Given the description of an element on the screen output the (x, y) to click on. 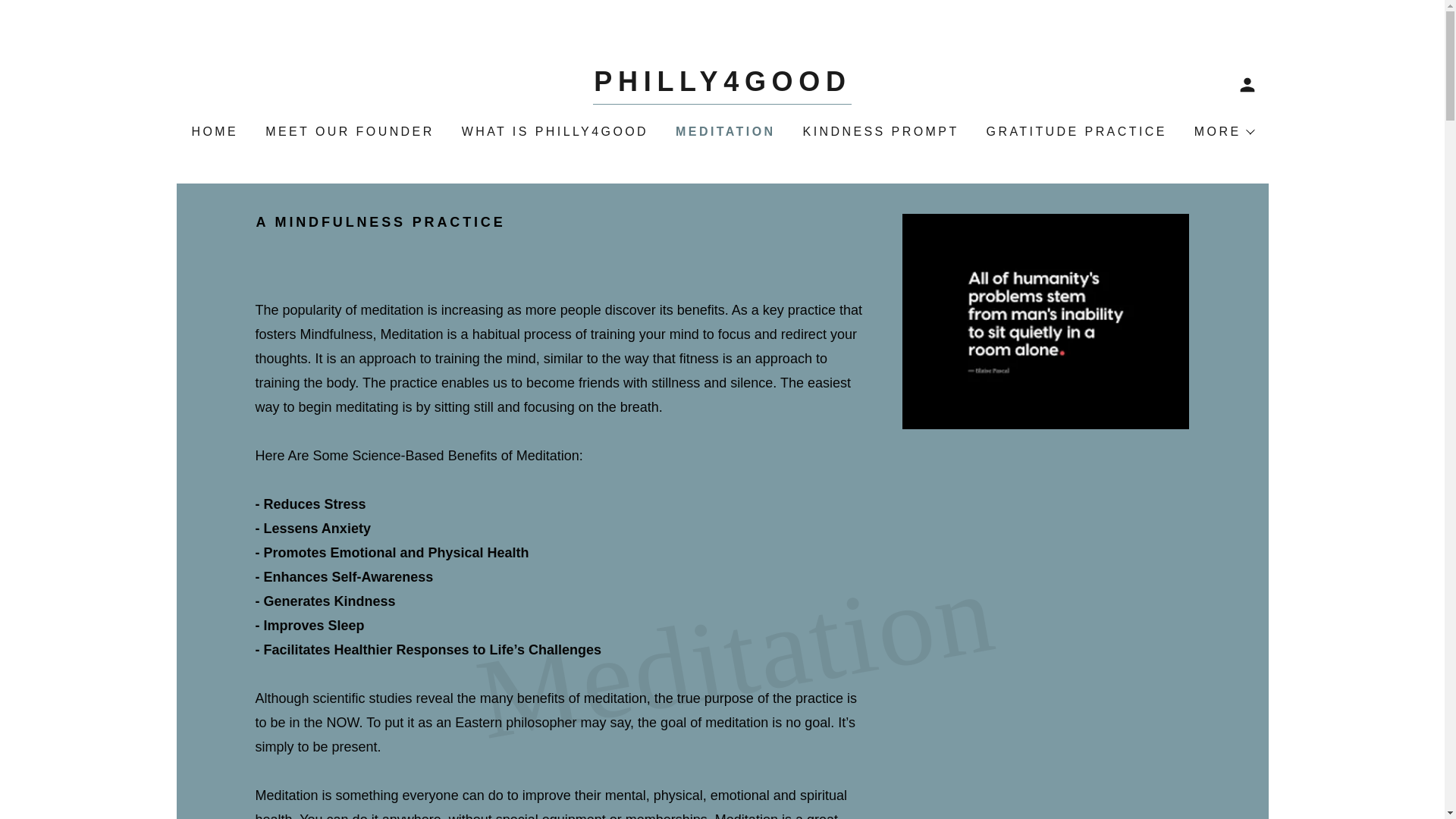
WHAT IS PHILLY4GOOD (553, 131)
HOME (213, 131)
MORE (1223, 131)
GRATITUDE PRACTICE (1075, 131)
Philly4Good  (721, 86)
KINDNESS PROMPT (878, 131)
PHILLY4GOOD (721, 86)
MEDITATION (723, 131)
MEET OUR FOUNDER (348, 131)
